Given the description of an element on the screen output the (x, y) to click on. 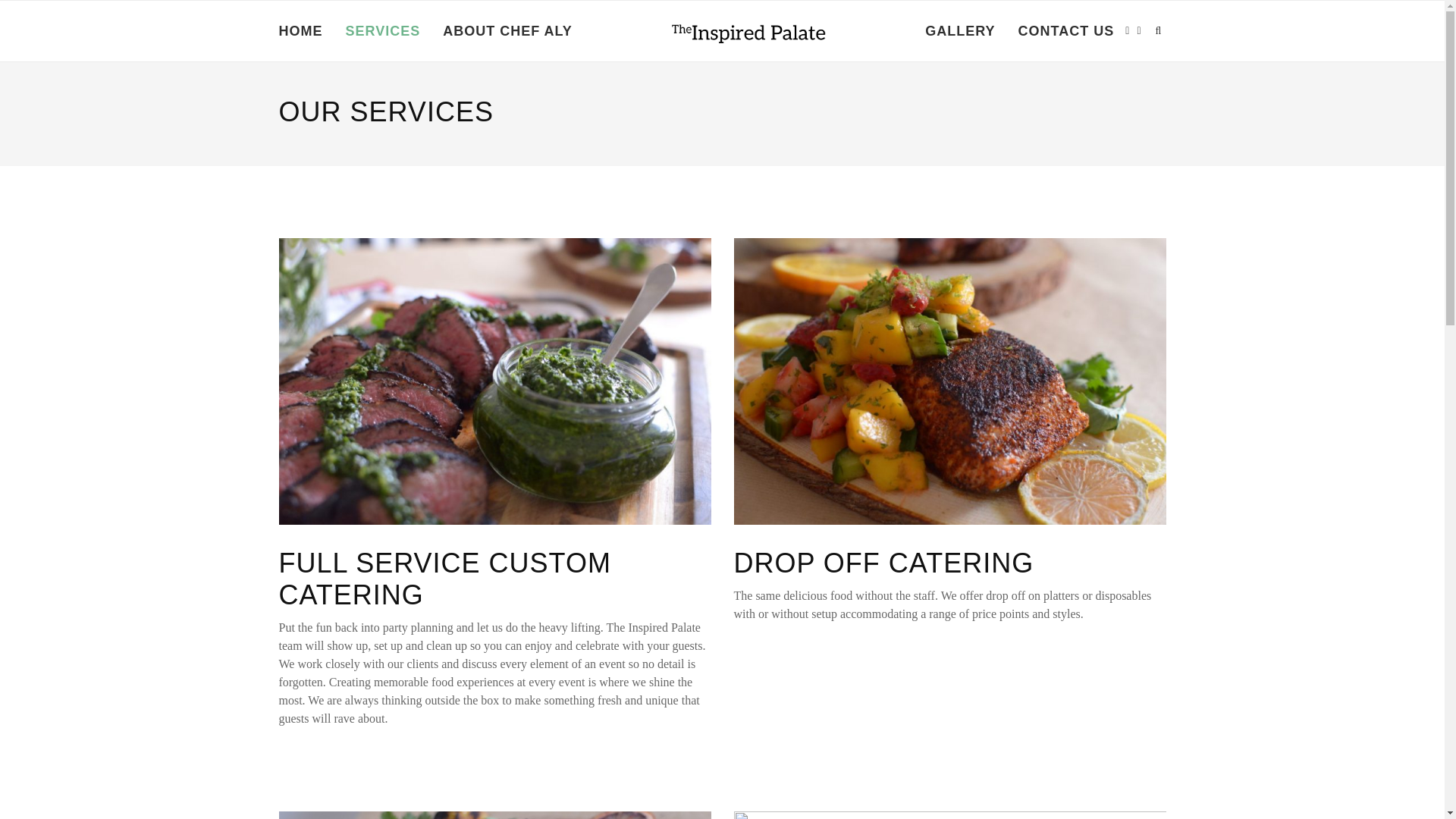
SERVICES (383, 30)
CONTACT US (1066, 30)
ABOUT CHEF ALY (507, 30)
GALLERY (959, 30)
